Given the description of an element on the screen output the (x, y) to click on. 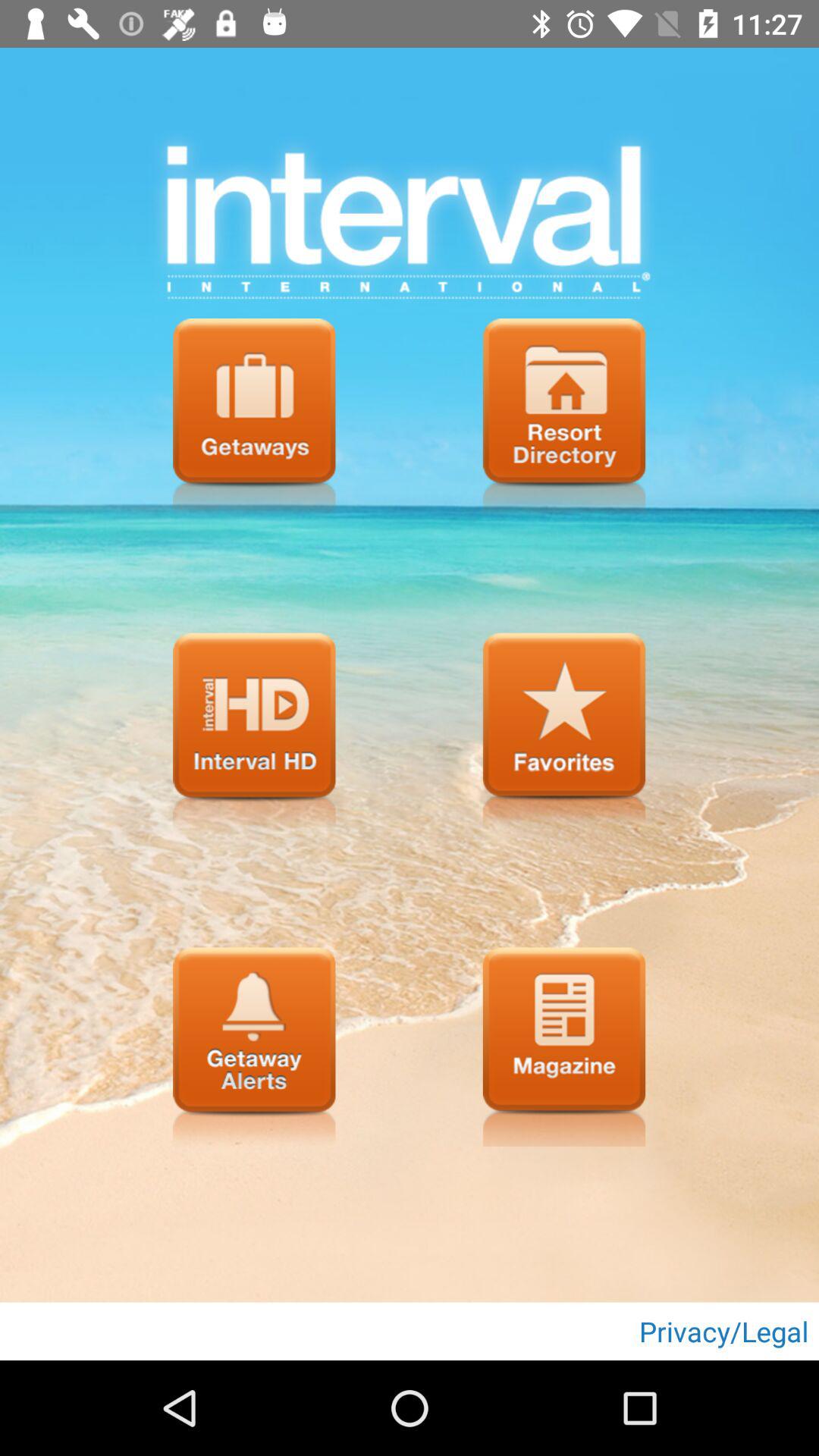
magazine books (563, 1046)
